Given the description of an element on the screen output the (x, y) to click on. 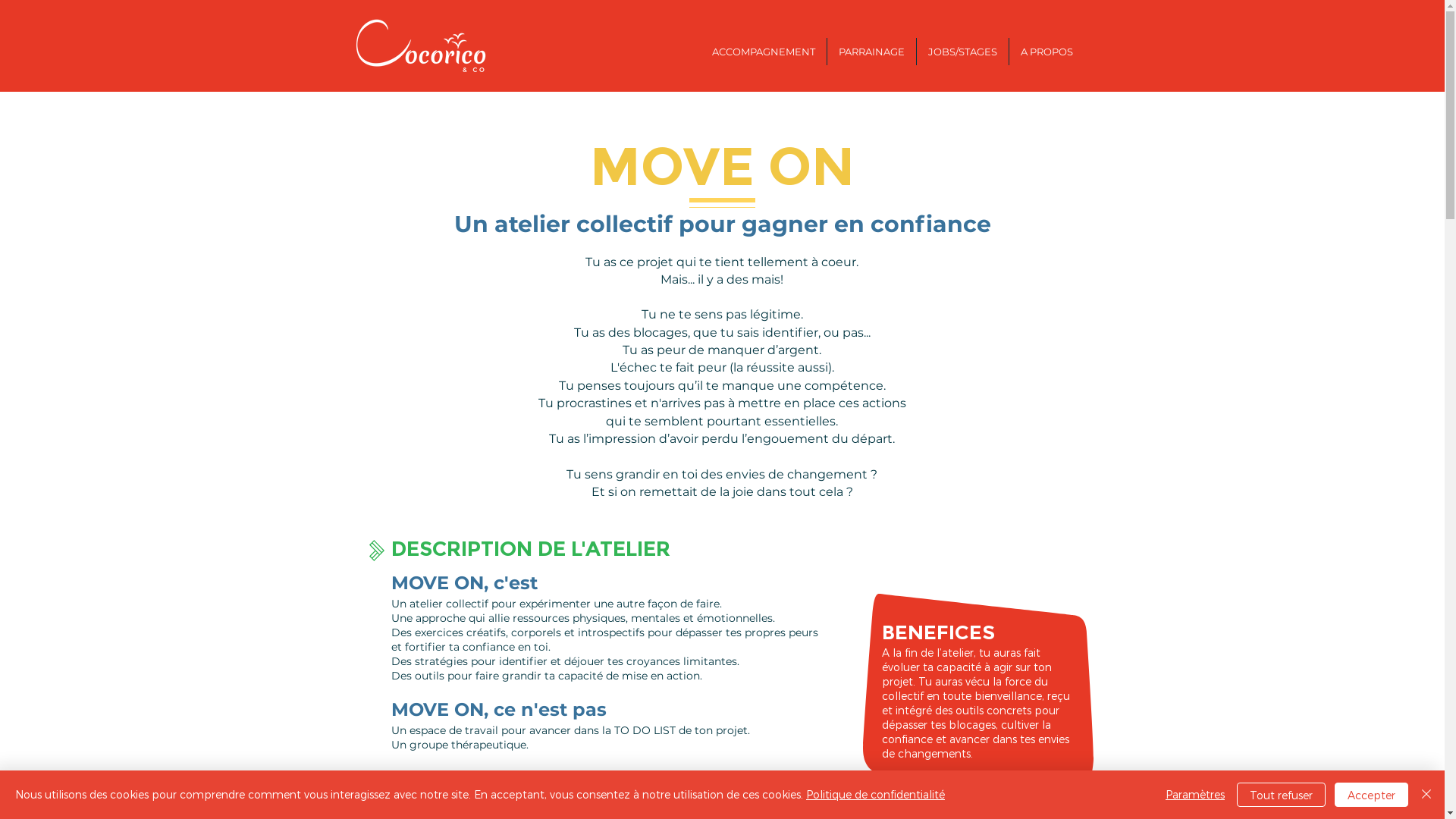
A PROPOS Element type: text (1045, 51)
Accepter Element type: text (1371, 794)
JOBS/STAGES Element type: text (961, 51)
PARRAINAGE Element type: text (870, 51)
ACCOMPAGNEMENT Element type: text (763, 51)
Tout refuser Element type: text (1280, 794)
